Given the description of an element on the screen output the (x, y) to click on. 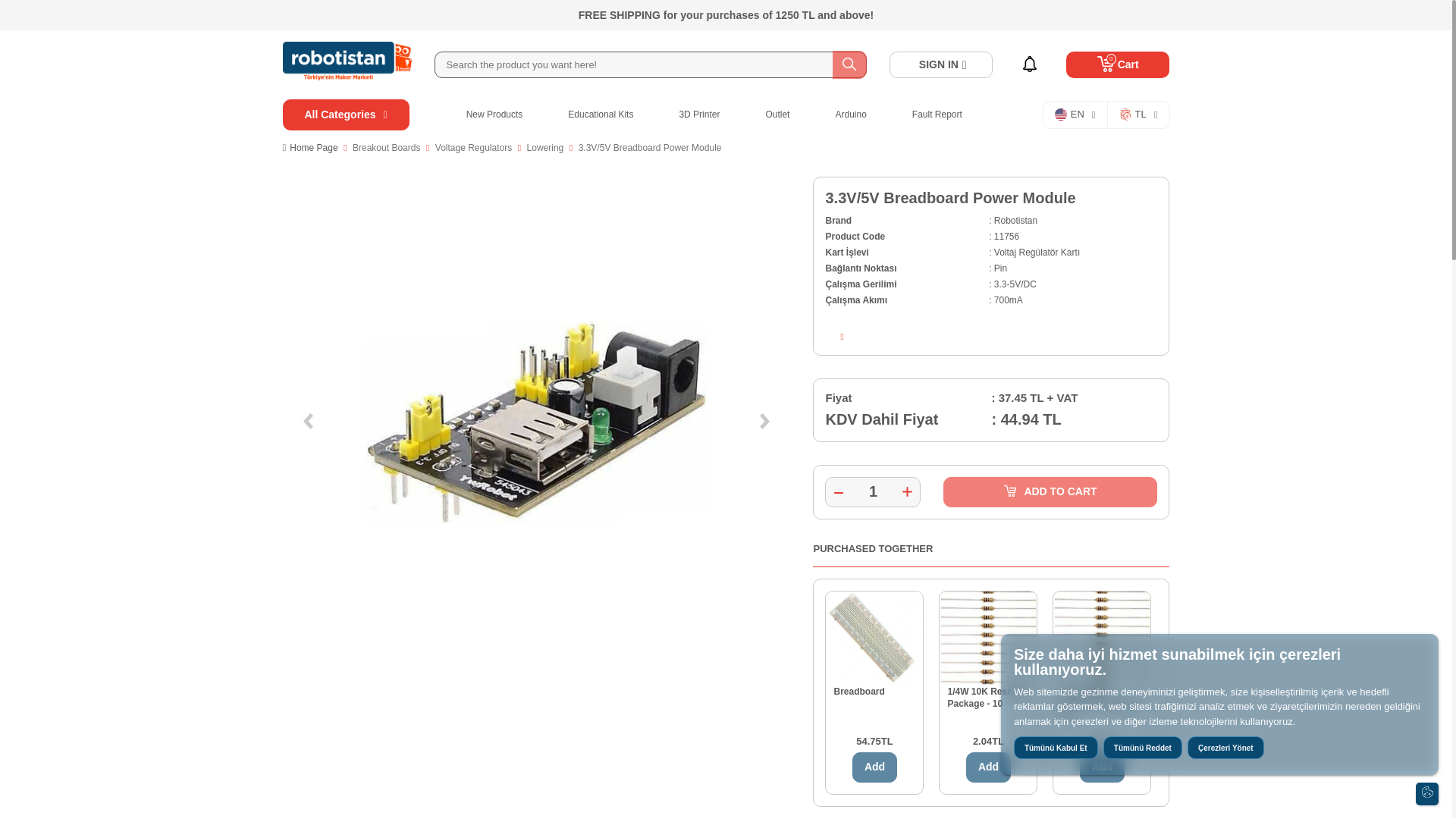
SIGN IN (940, 64)
1 (872, 491)
